Given the description of an element on the screen output the (x, y) to click on. 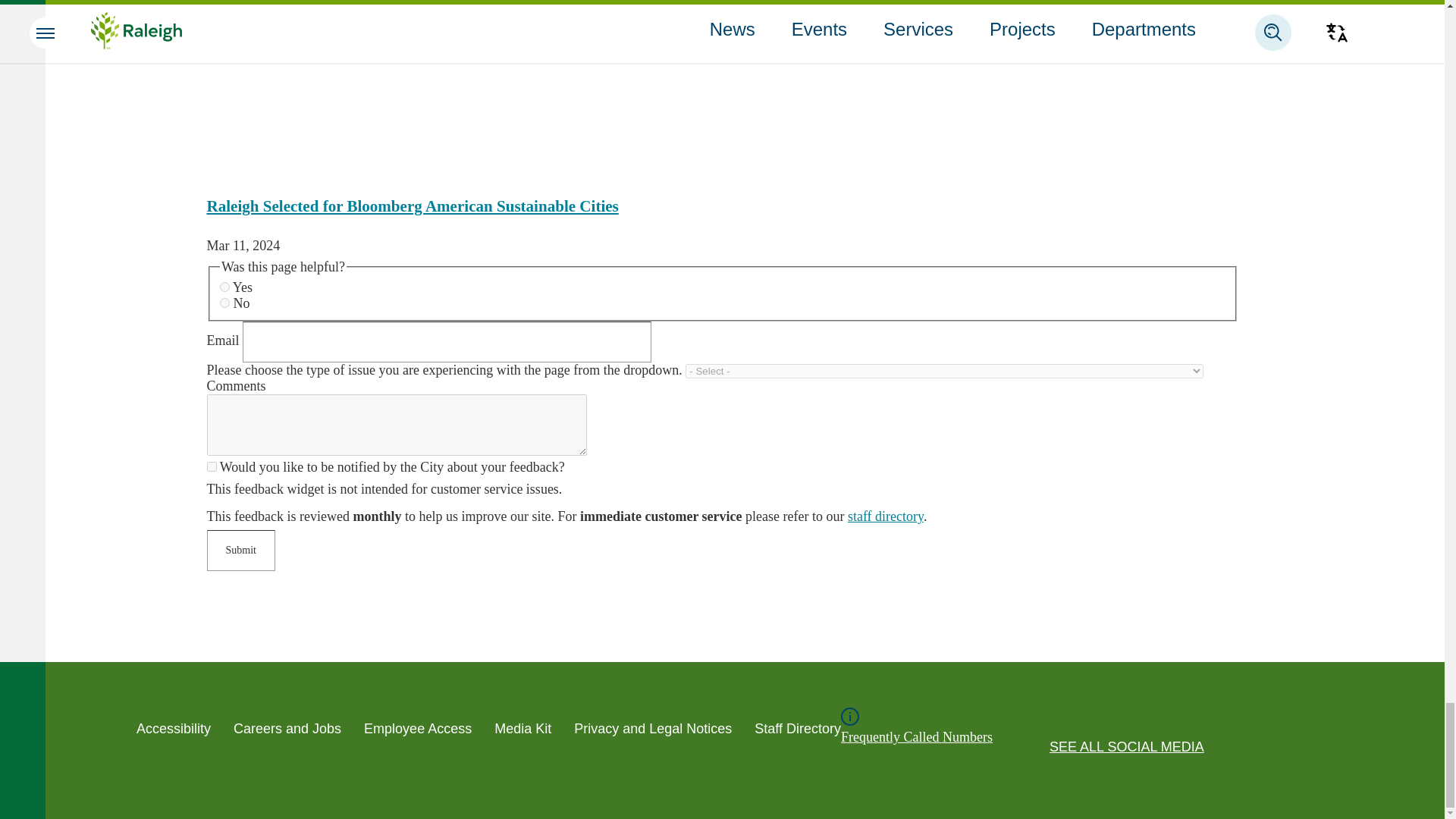
Link to Raleigh's Facebook Page (1142, 716)
No (224, 302)
Link to Raleigh's Instagram Page (1174, 716)
Submit (240, 549)
Link to Raleigh's Youtube Page (1110, 716)
1 (210, 466)
Yes (224, 286)
Link to Raleigh's Twitter Page (1078, 716)
